Given the description of an element on the screen output the (x, y) to click on. 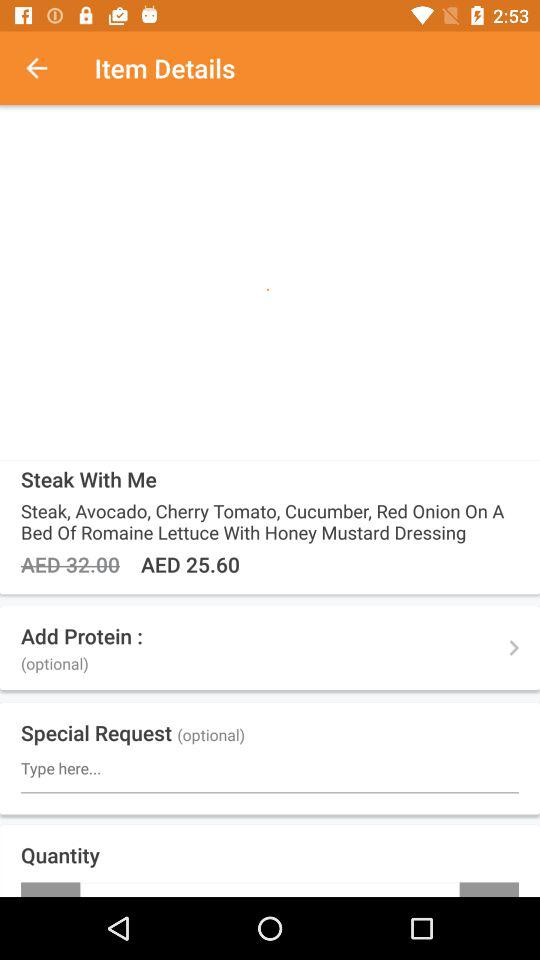
choose the item next to the - (489, 889)
